Given the description of an element on the screen output the (x, y) to click on. 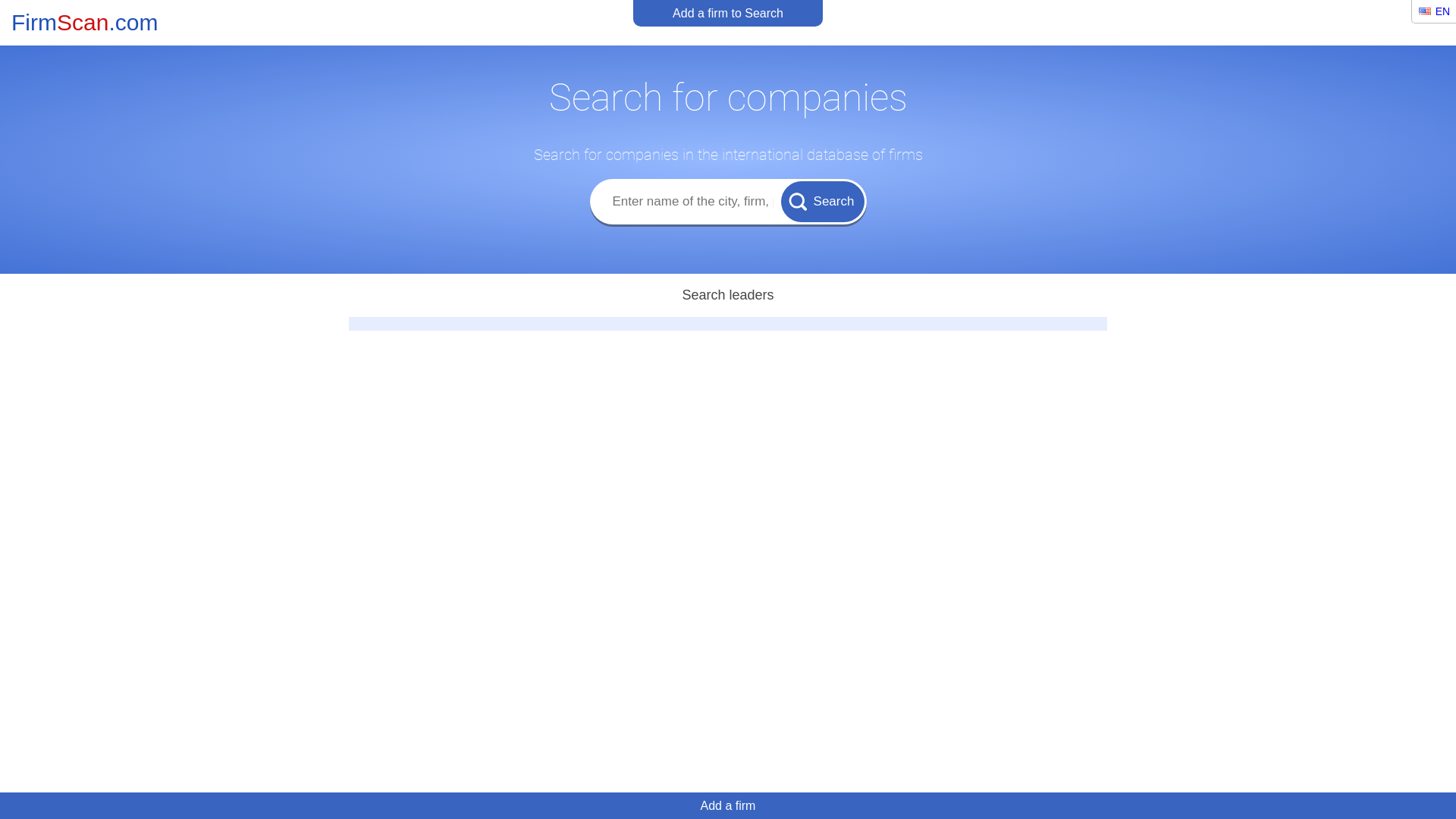
Search Element type: text (822, 200)
EN Element type: text (1433, 11)
